Given the description of an element on the screen output the (x, y) to click on. 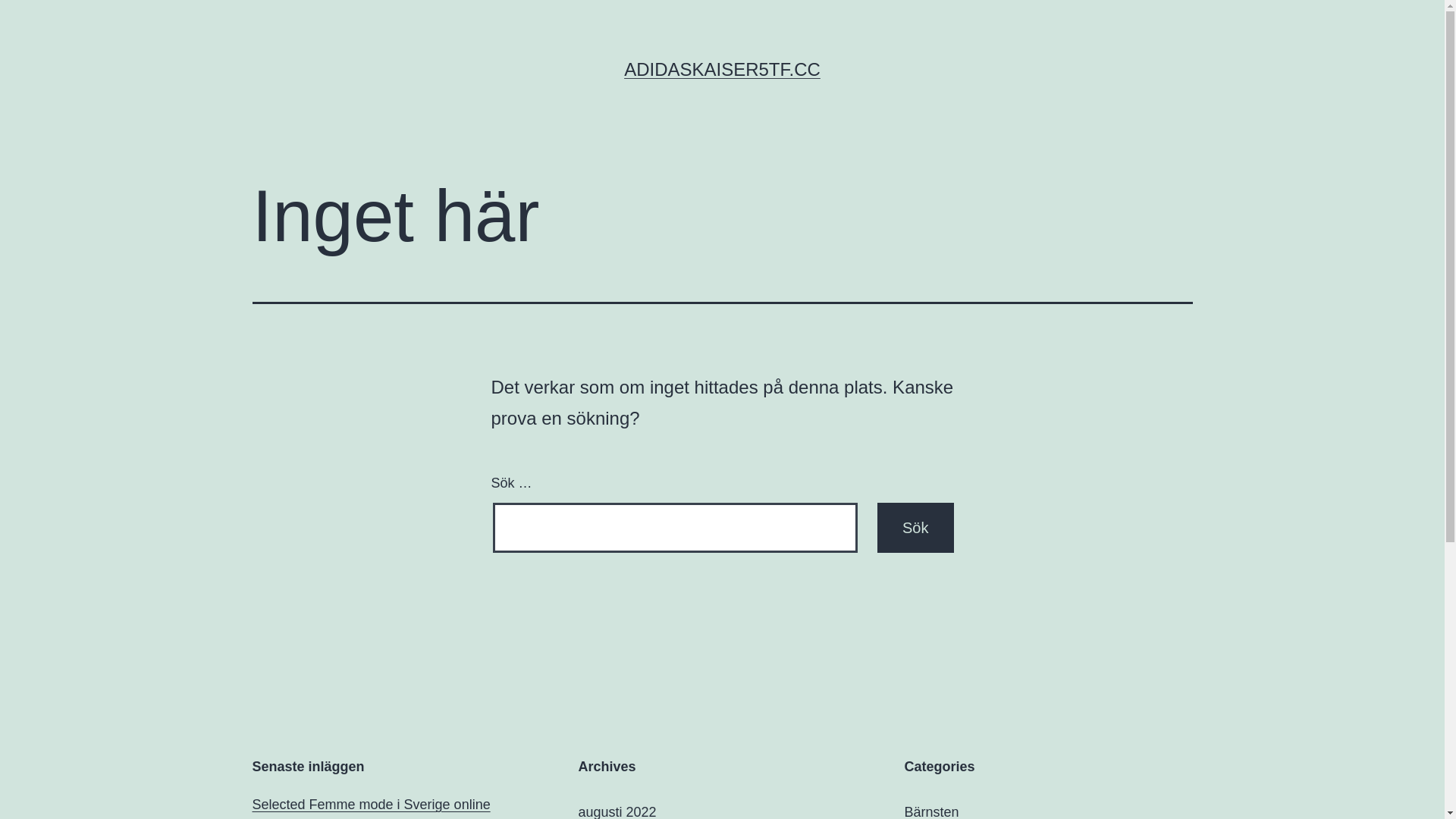
Selected Femme mode i Sverige online Element type: text (370, 804)
ADIDASKAISER5TF.CC Element type: text (722, 69)
